Given the description of an element on the screen output the (x, y) to click on. 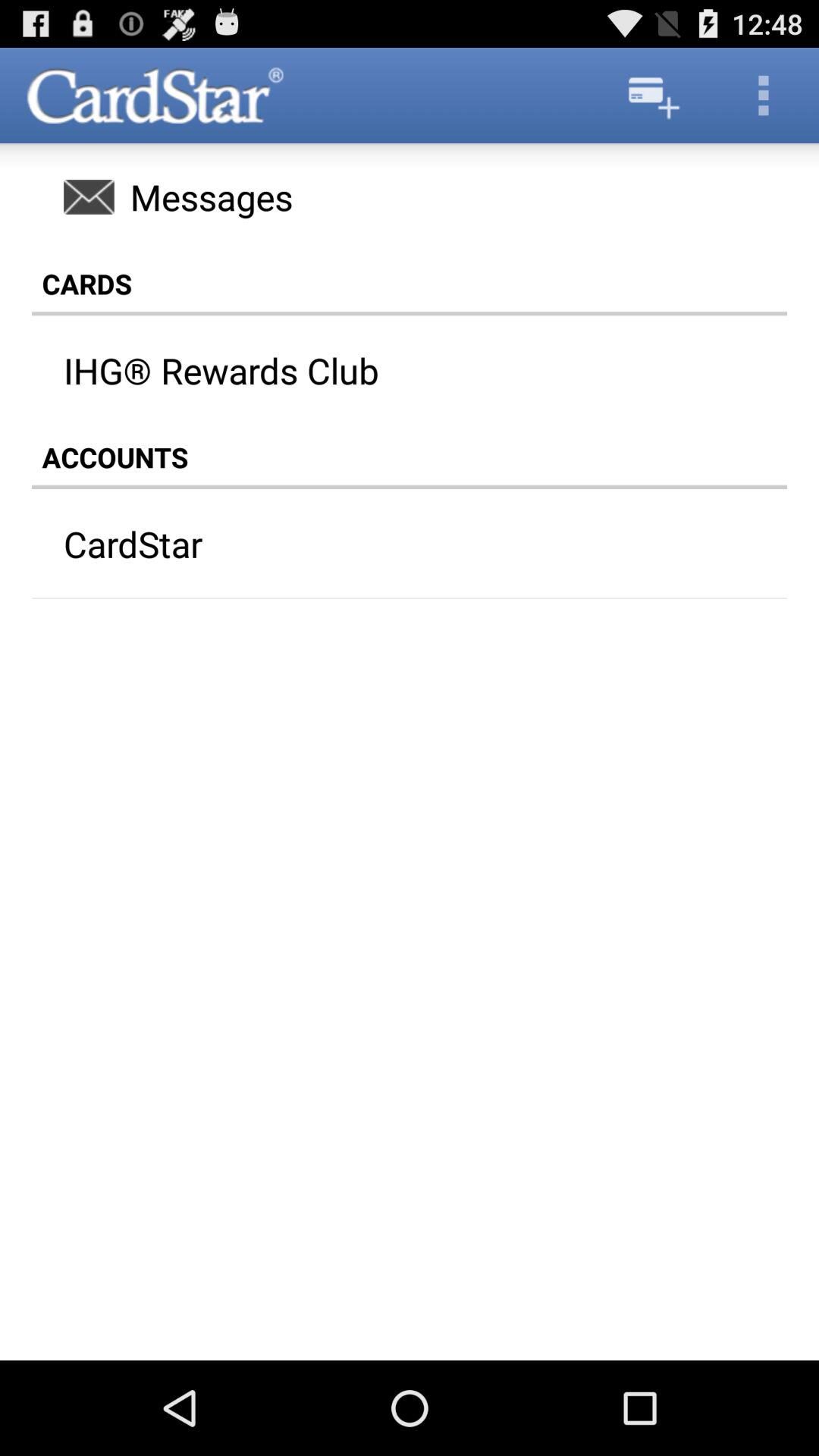
swipe until the accounts app (409, 457)
